Given the description of an element on the screen output the (x, y) to click on. 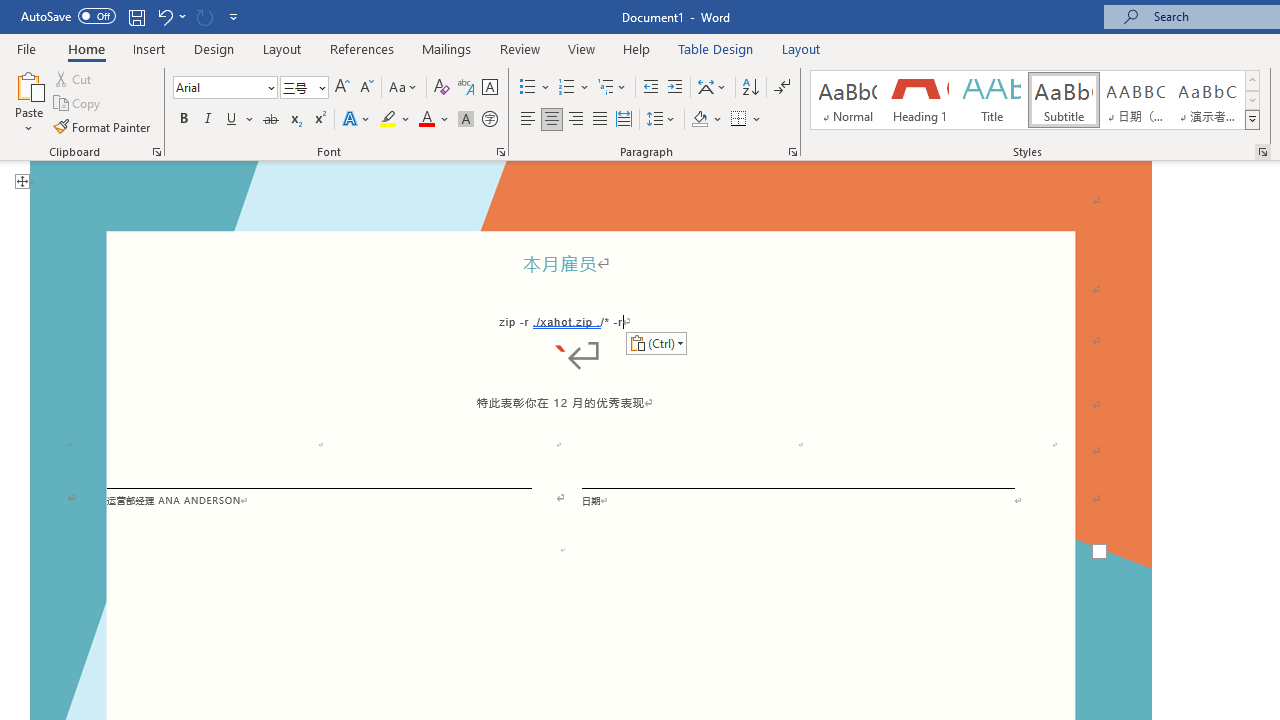
Undo Paste (170, 15)
